Given the description of an element on the screen output the (x, y) to click on. 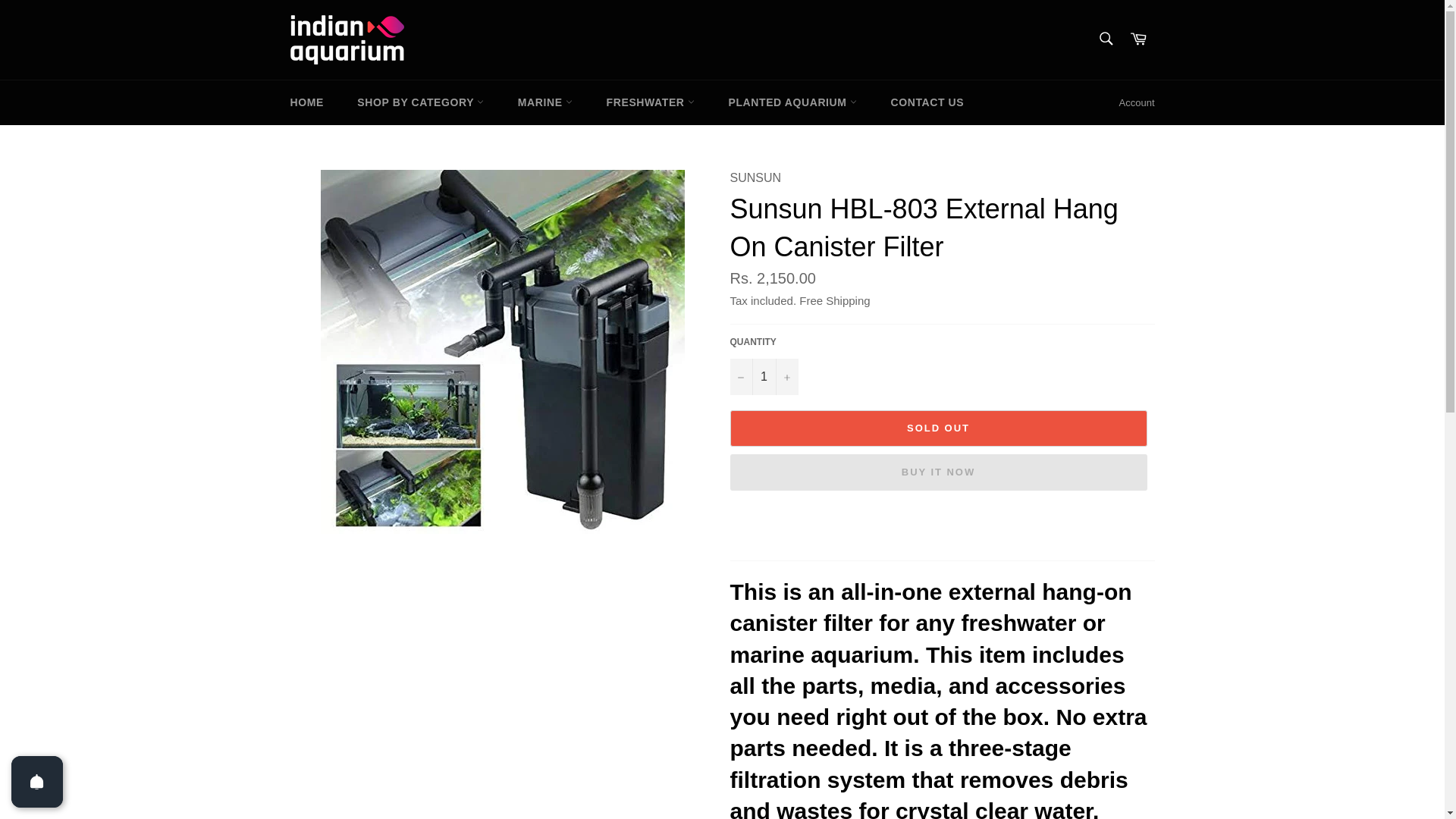
1 (763, 376)
